Given the description of an element on the screen output the (x, y) to click on. 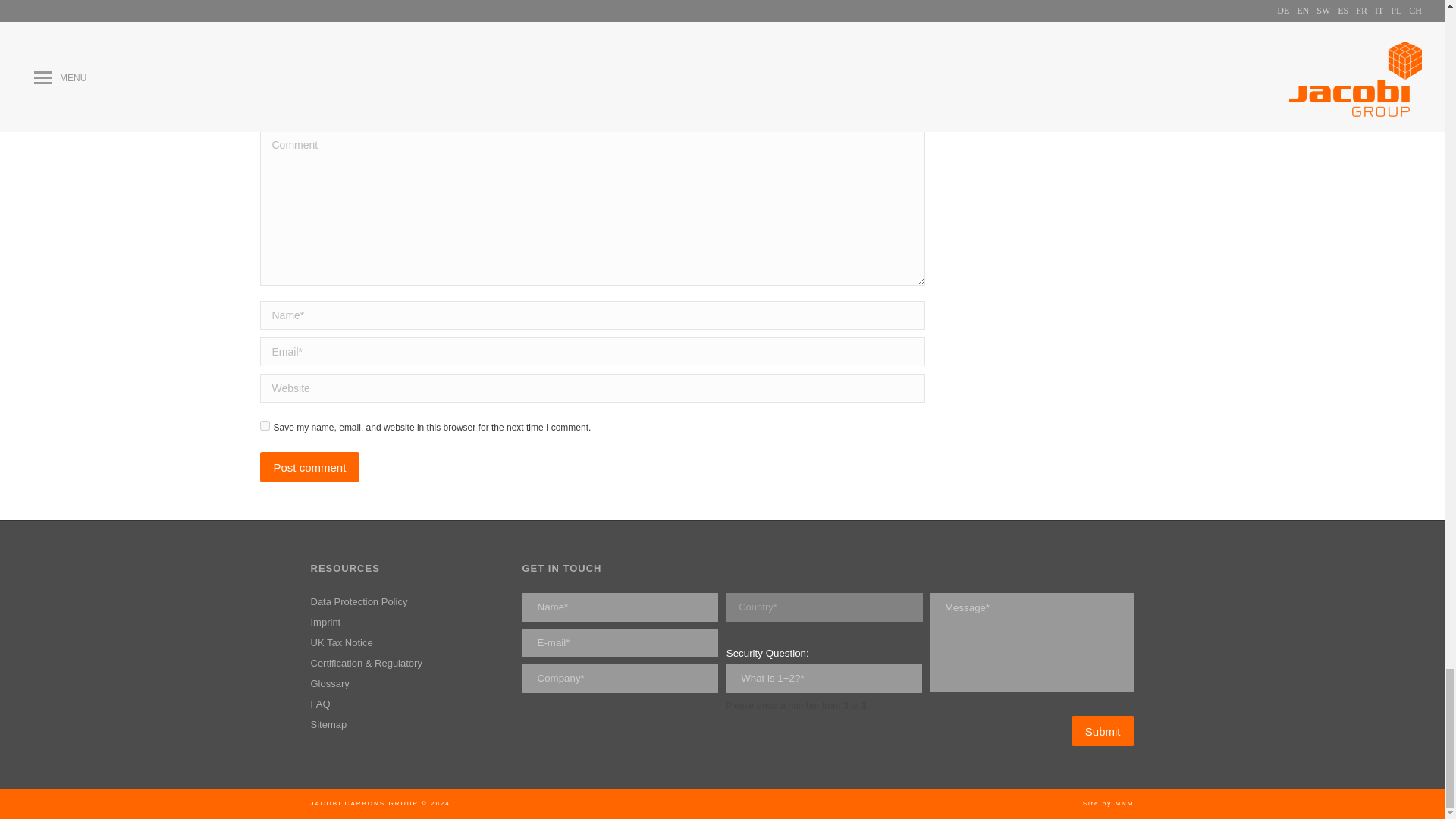
Submit (1102, 730)
yes (264, 425)
